Given the description of an element on the screen output the (x, y) to click on. 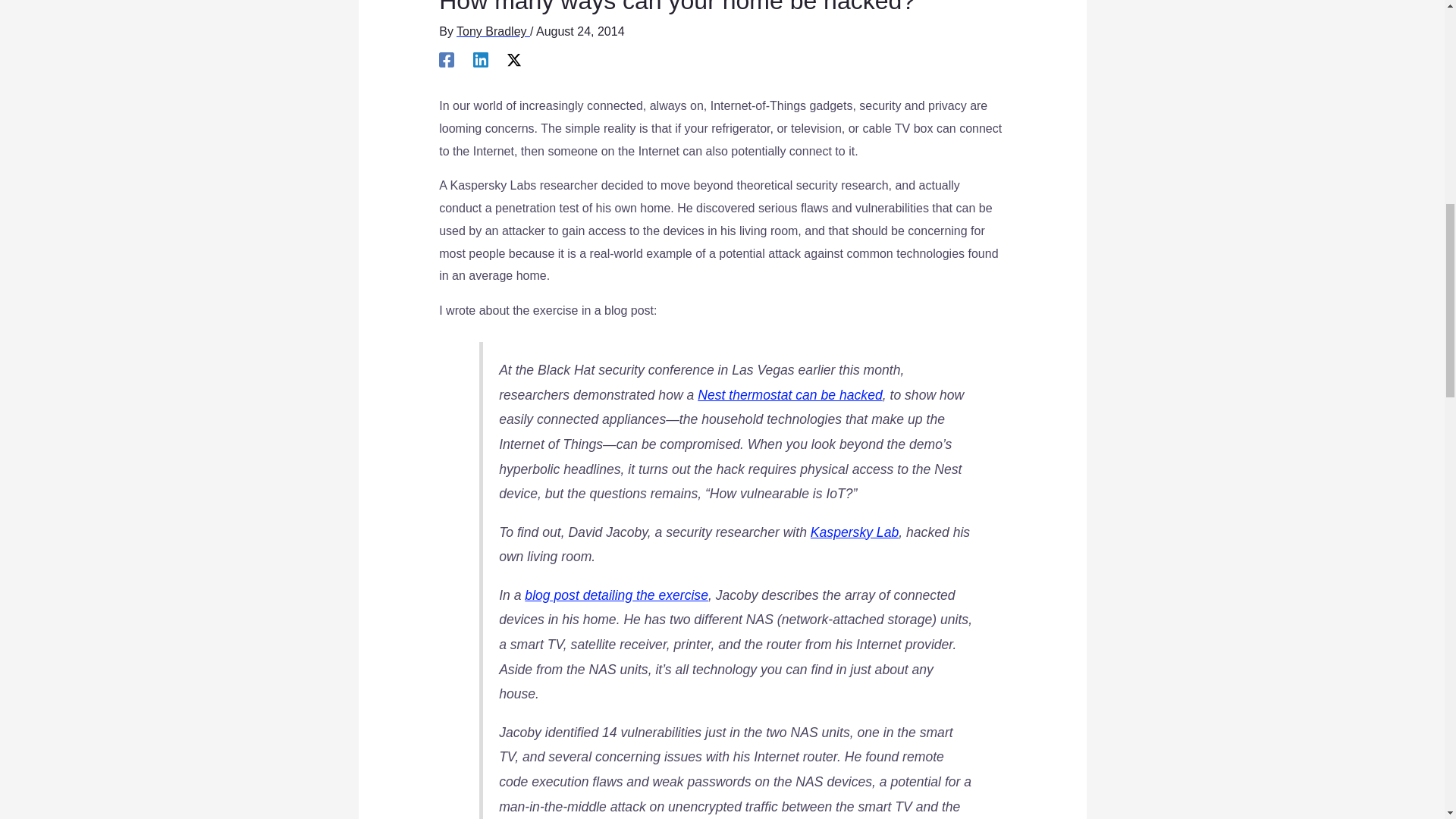
View all posts by Tony Bradley (493, 31)
Nest thermostat can be hacked (789, 394)
blog post detailing the exercise (615, 595)
Tony Bradley (493, 31)
Kaspersky Lab (854, 531)
